Given the description of an element on the screen output the (x, y) to click on. 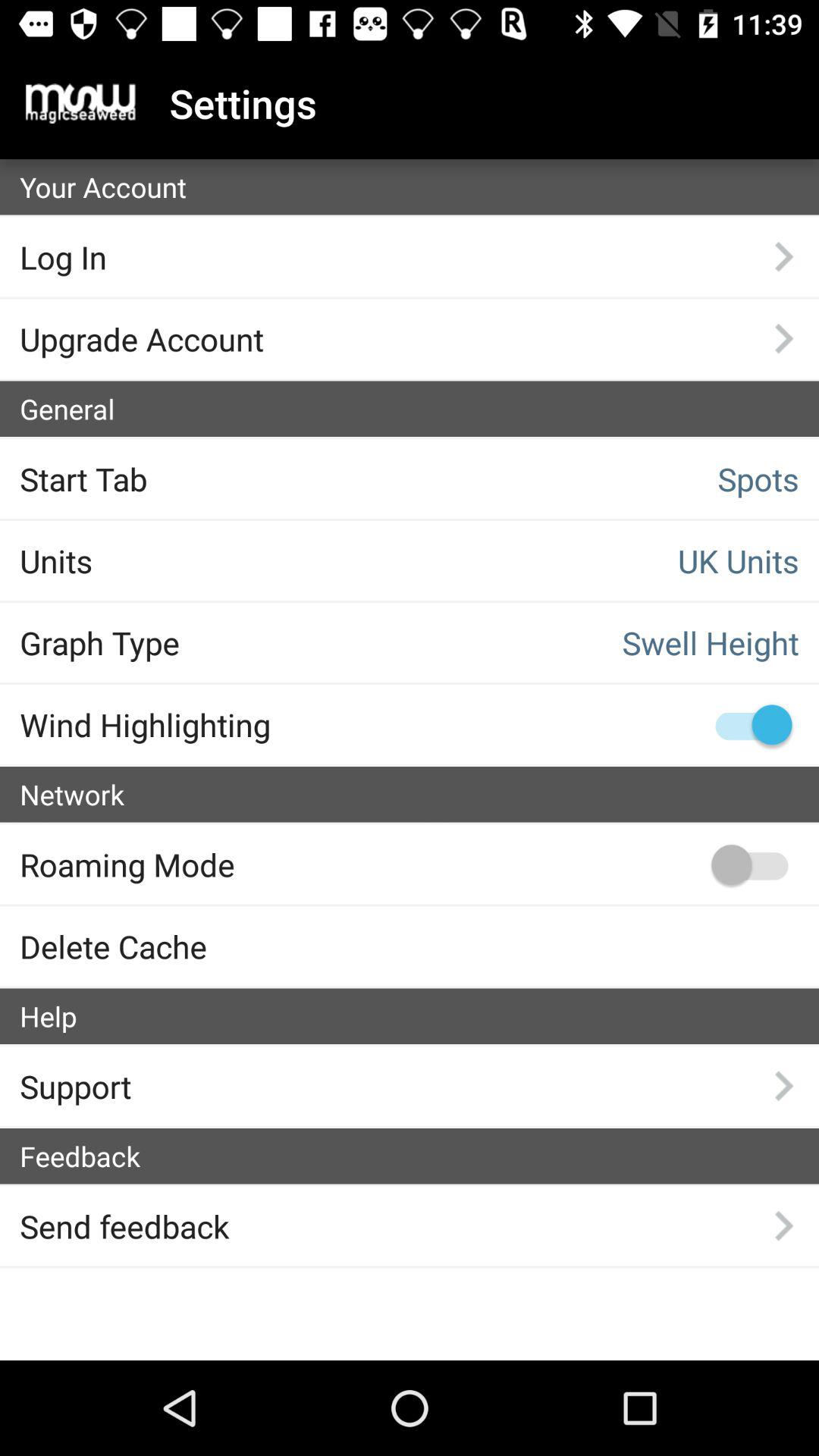
select the text below spots (619, 560)
the text spots above uk units (619, 478)
click on the graph type below units (198, 642)
click the button start tab on the web page (198, 478)
click on the button which is above the support (419, 1016)
click on the third arrow symbol from top (783, 1085)
click on the button which is above the send feedback (419, 1155)
click on the second next symbol from the top (783, 338)
click on the button which is next to the roaming mode (749, 863)
click the right arrow icon which is right to upgrade account (783, 338)
